Given the description of an element on the screen output the (x, y) to click on. 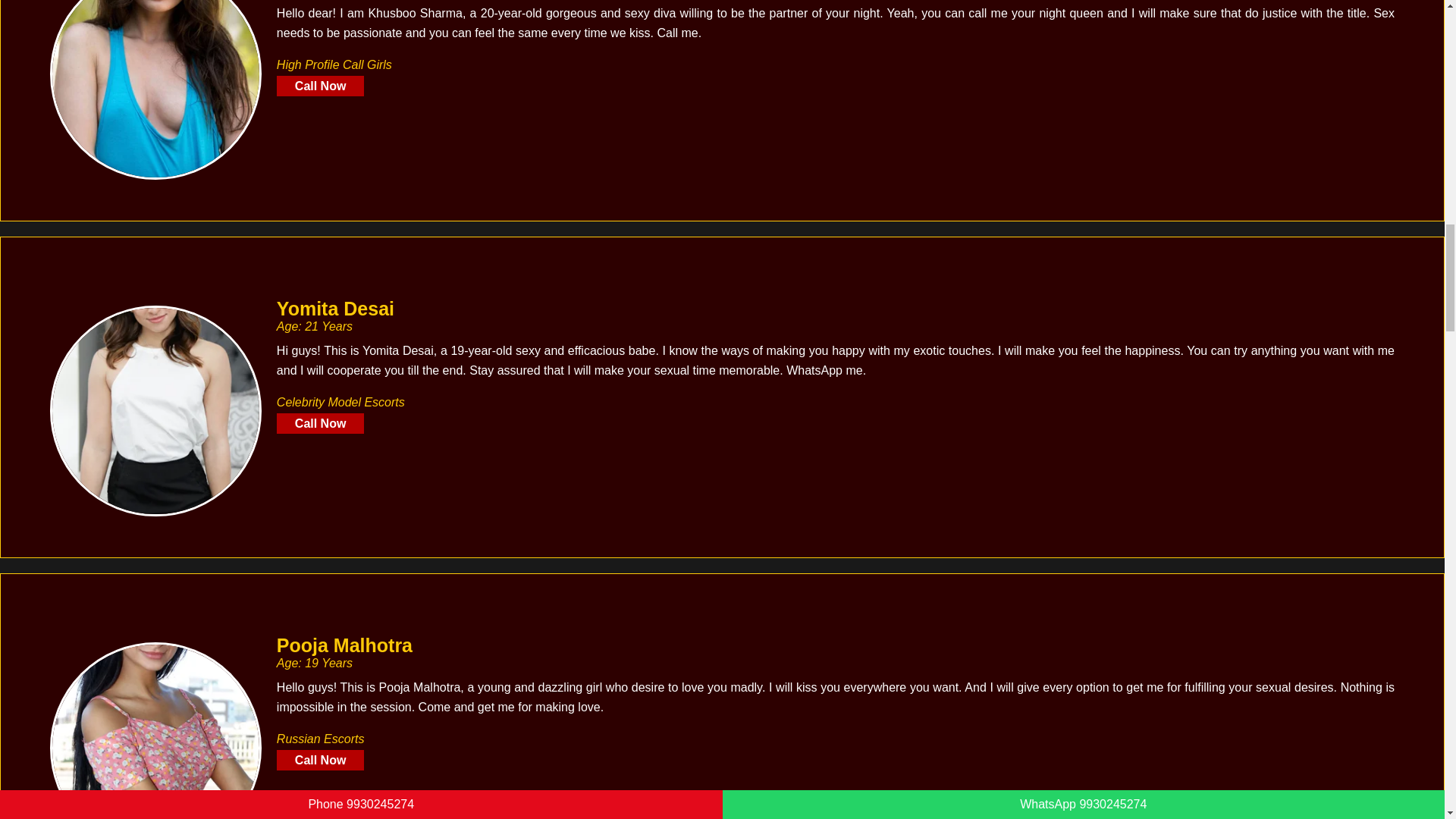
New Contact Sexy Model Girls Navi Mumbai (155, 89)
New Navi Mumbai Escorts Photo (155, 410)
Call Now (320, 423)
Call Now (320, 760)
New Navi Mumbai Indian Escorts (155, 730)
Call Now (320, 86)
